Given the description of an element on the screen output the (x, y) to click on. 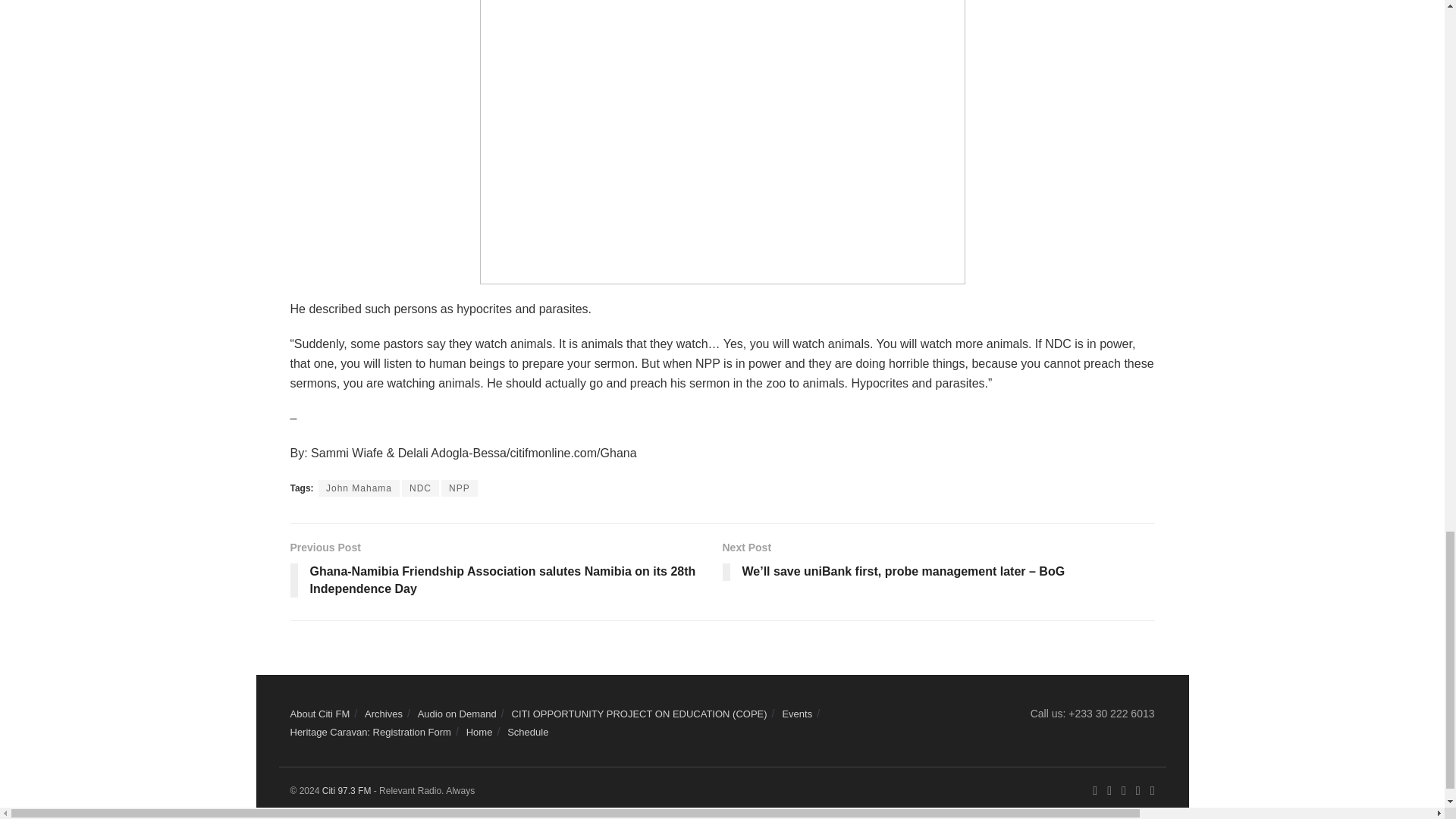
NDC (420, 487)
NPP (459, 487)
Citi 97.3 FM (346, 790)
John Mahama (358, 487)
